Given the description of an element on the screen output the (x, y) to click on. 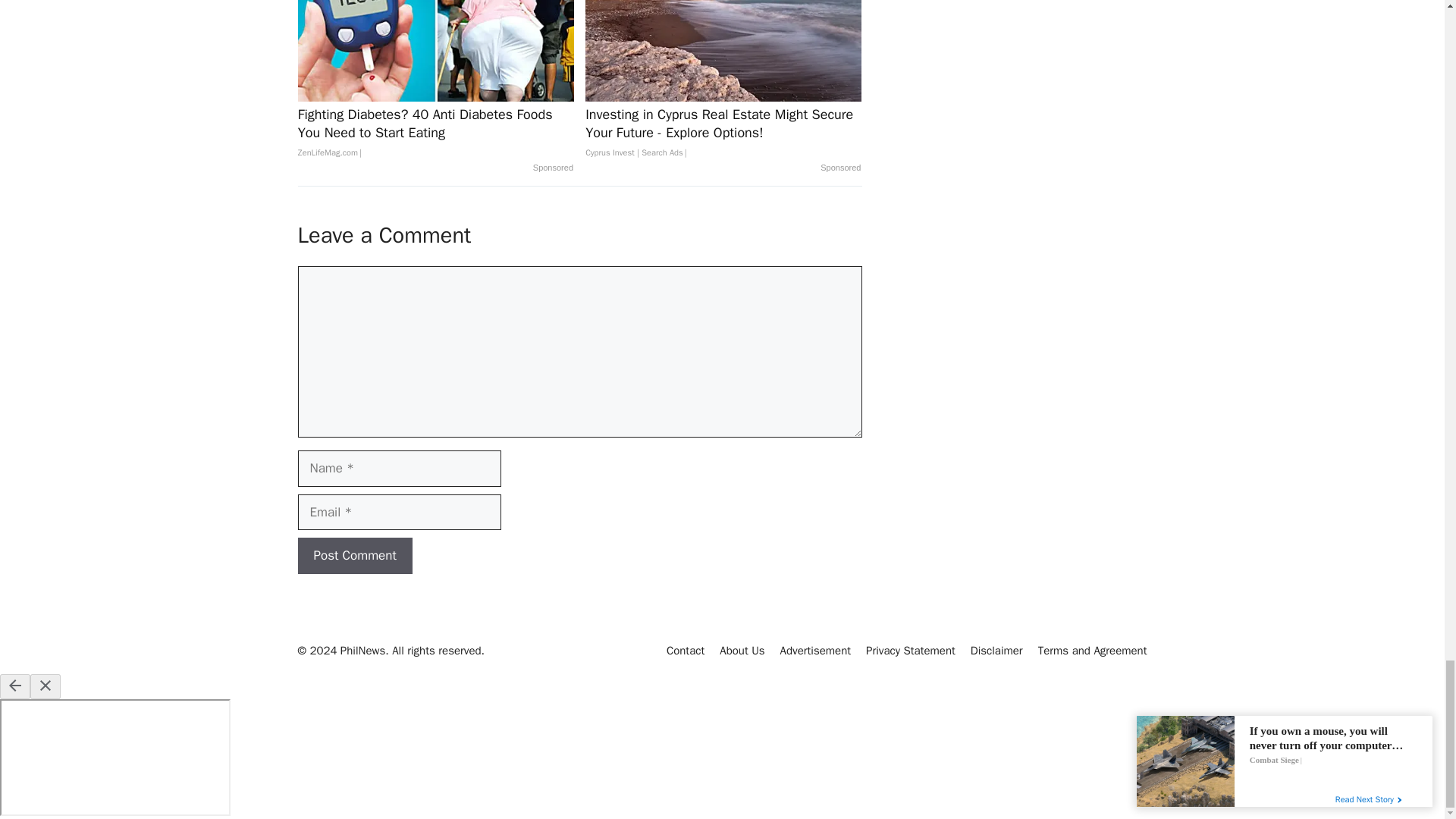
Post Comment (354, 555)
